Given the description of an element on the screen output the (x, y) to click on. 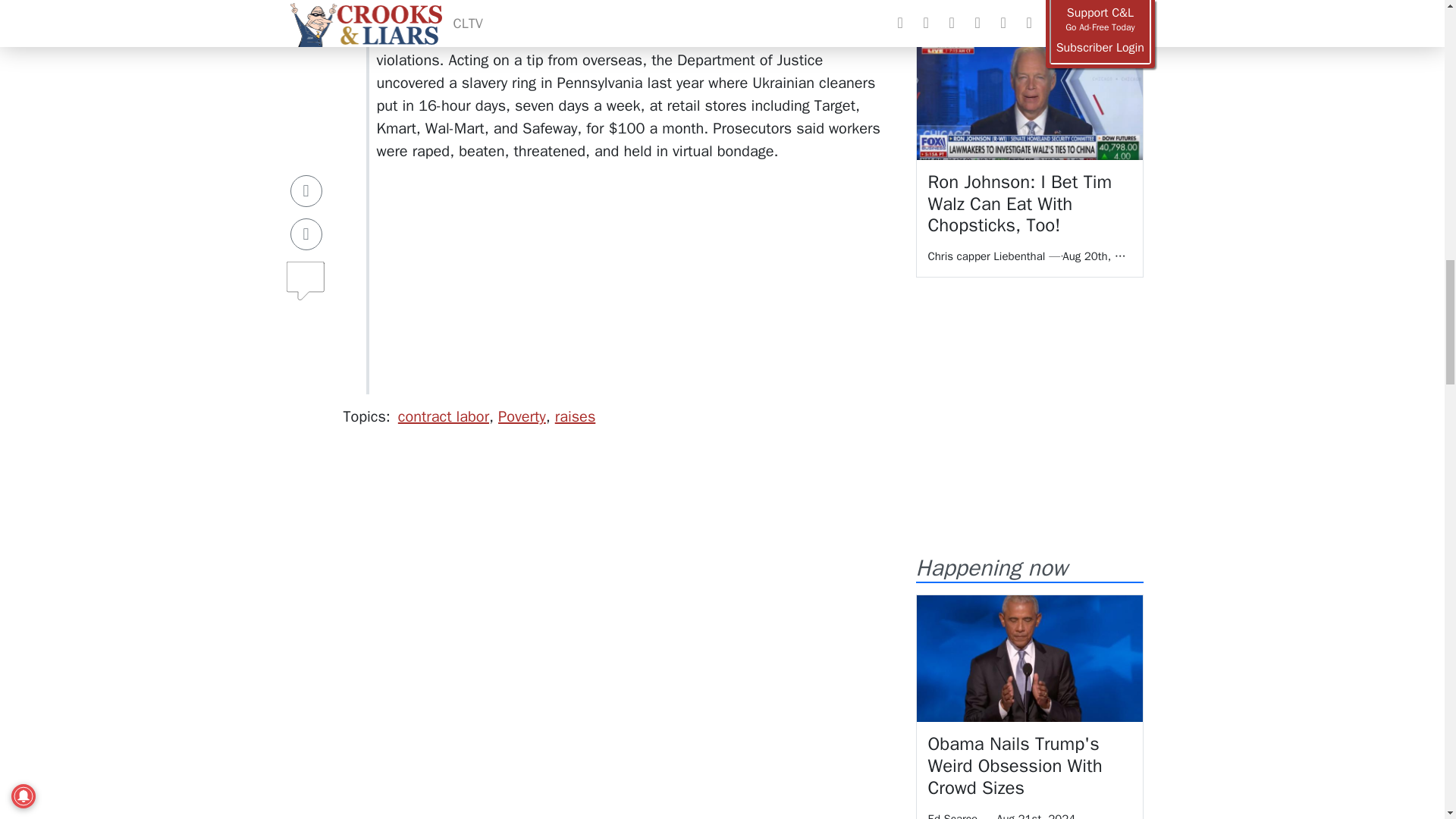
raises (574, 416)
Poverty (521, 416)
contract labor (443, 416)
